Given the description of an element on the screen output the (x, y) to click on. 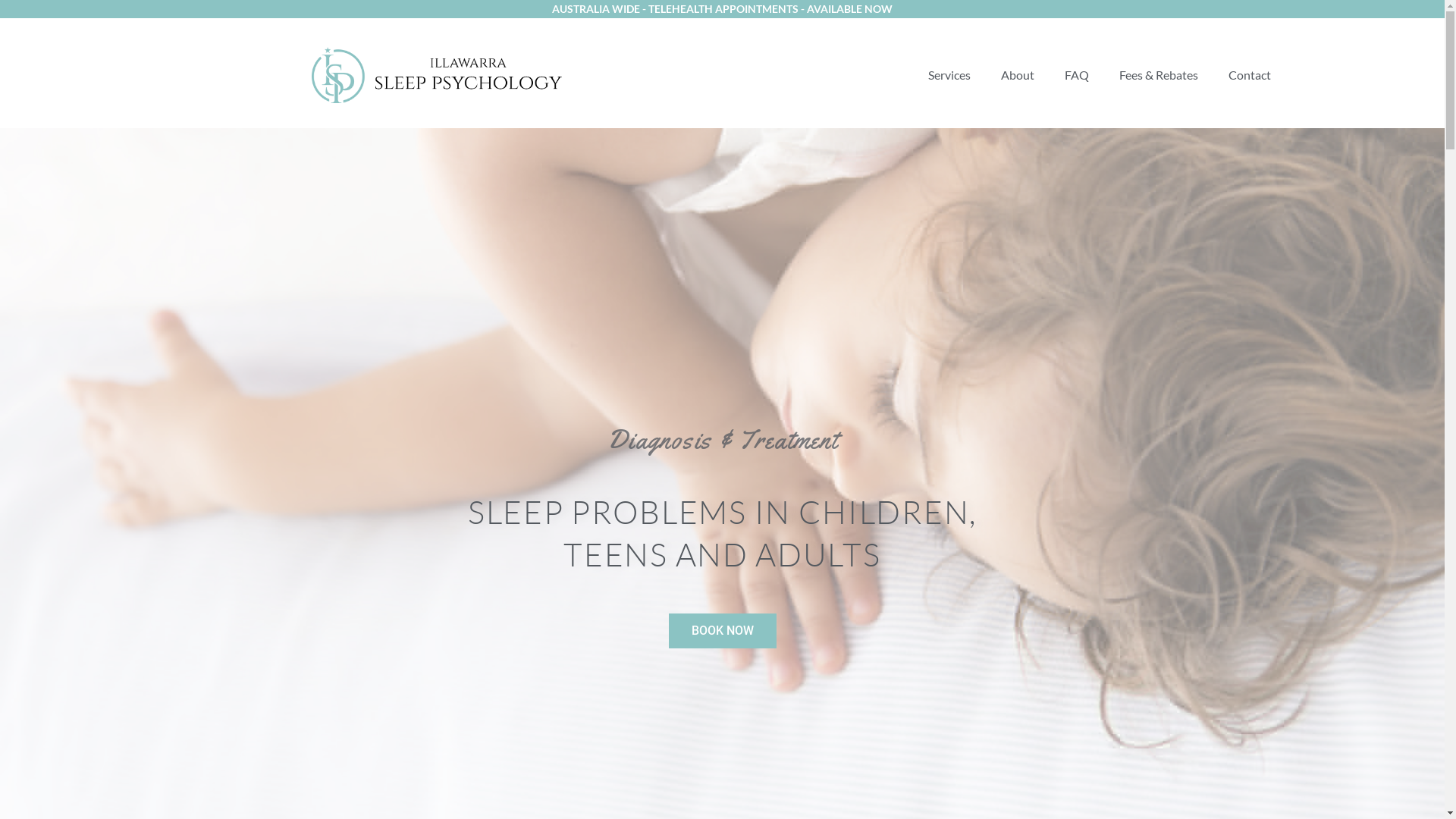
FAQ Element type: text (1076, 74)
Fees & Rebates Element type: text (1158, 74)
Contact Element type: text (1249, 74)
About Element type: text (1017, 74)
AUSTRALIA WIDE - TELEHEALTH APPOINTMENTS - AVAILABLE NOW Element type: text (722, 8)
Services Element type: text (949, 74)
BOOK NOW Element type: text (722, 630)
